Given the description of an element on the screen output the (x, y) to click on. 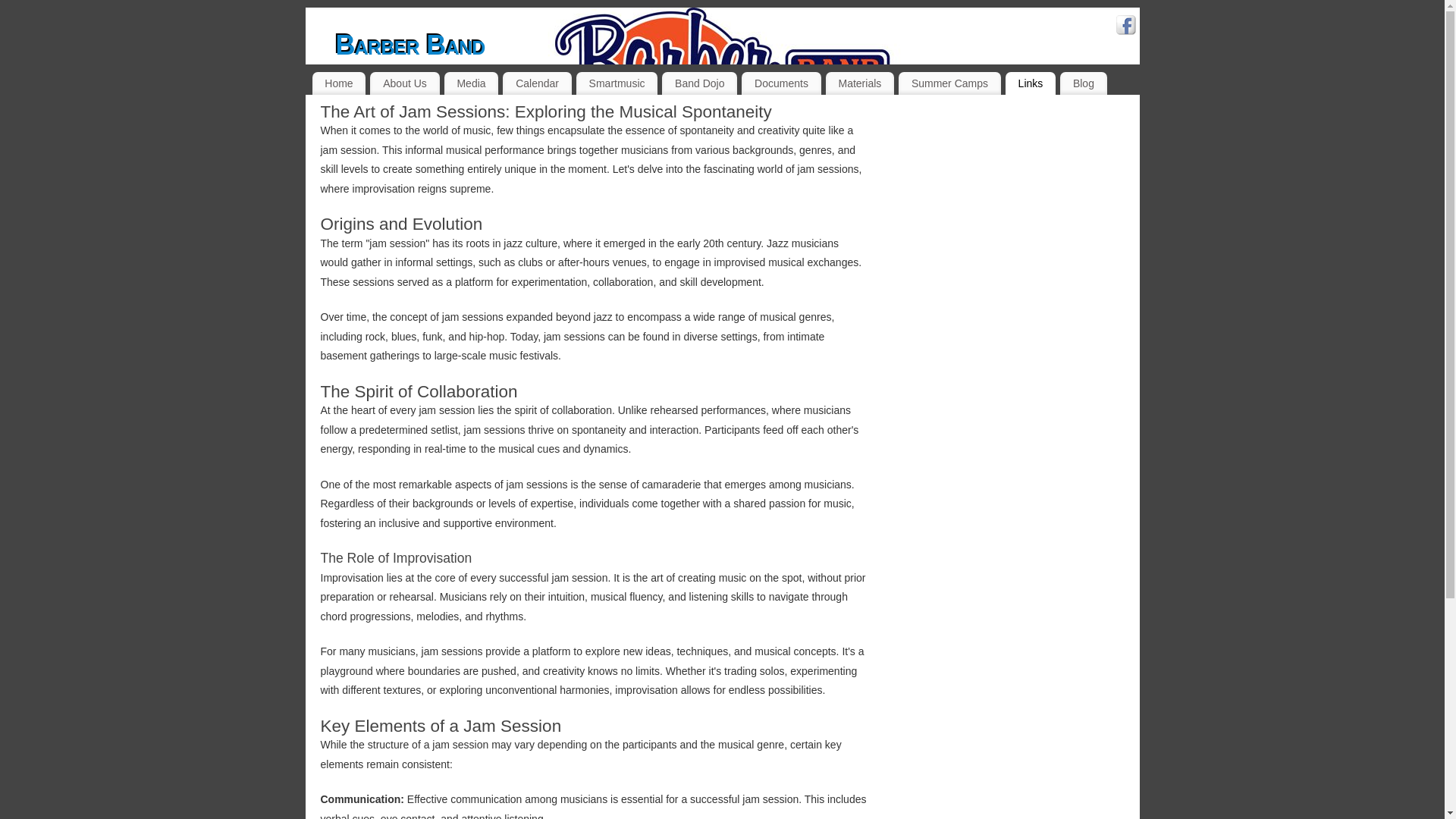
Calendar (536, 83)
Home (339, 83)
Documents (781, 83)
Blog (1082, 83)
About Us (404, 83)
Smartmusic (617, 83)
Materials (859, 83)
Media (471, 83)
Band Dojo (699, 83)
Barber Band (409, 44)
